Given the description of an element on the screen output the (x, y) to click on. 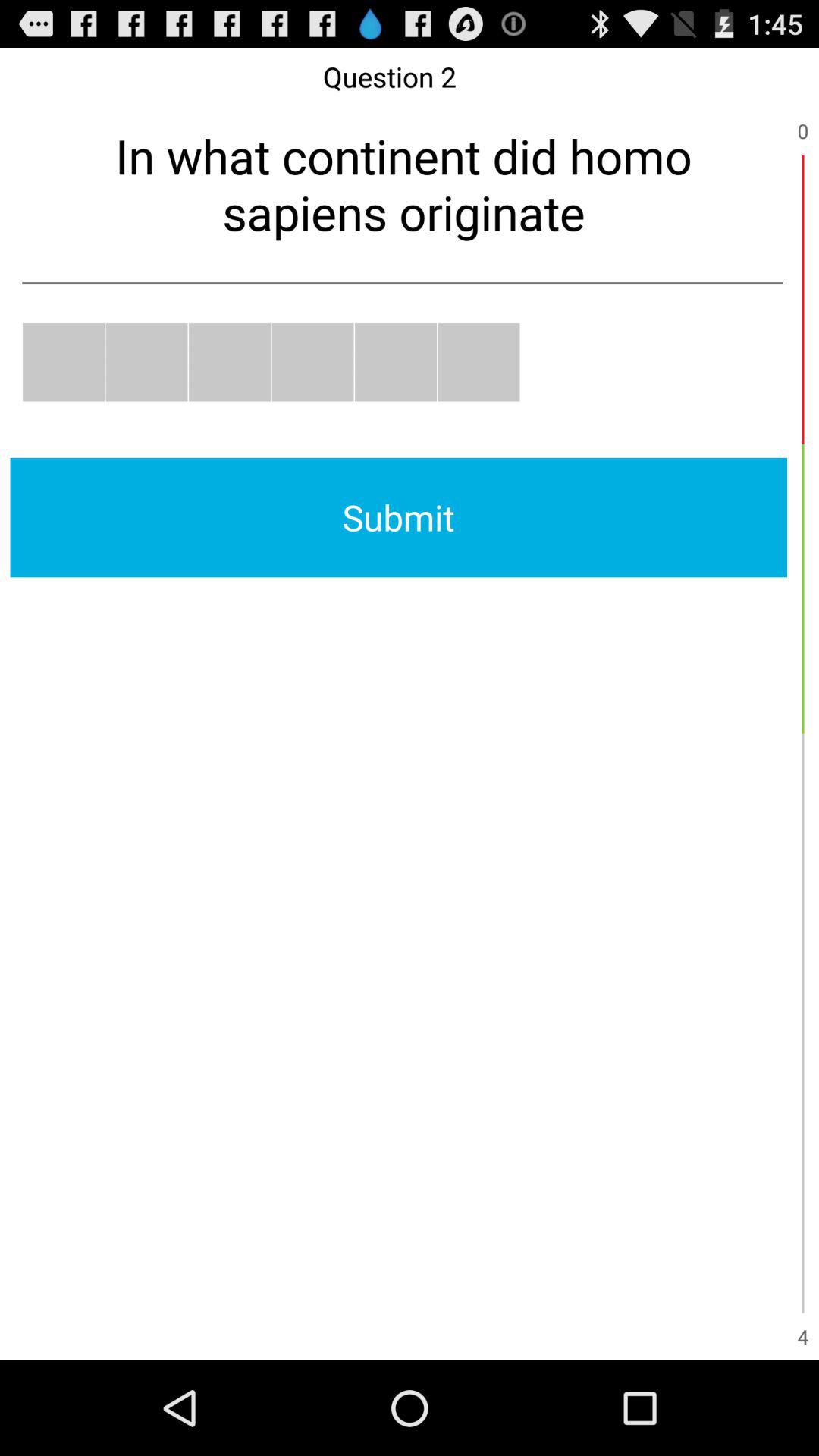
open submit icon (398, 517)
